Given the description of an element on the screen output the (x, y) to click on. 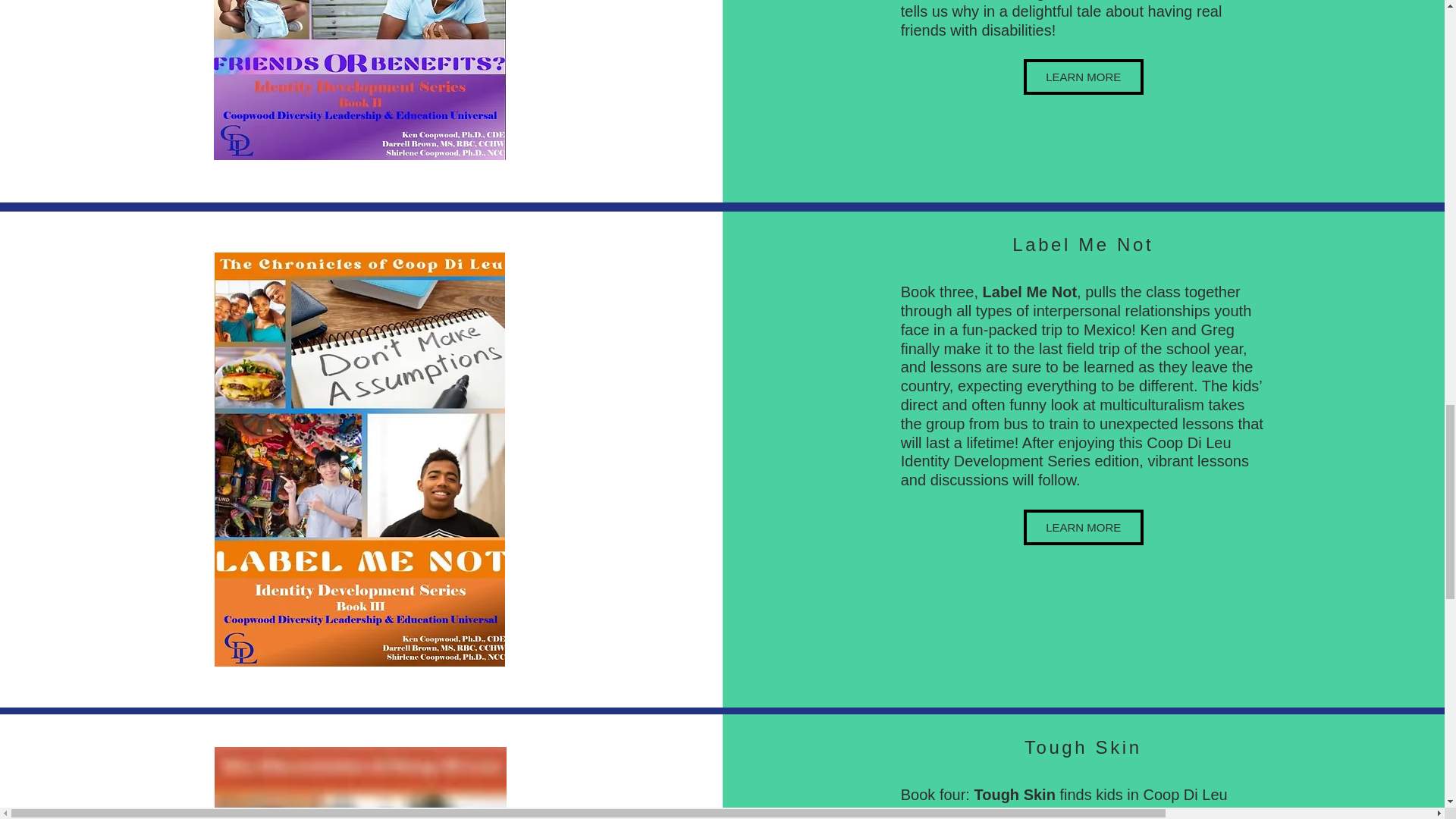
I am who I am .jpg (360, 782)
LEARN MORE (1082, 76)
I am who I am .jpg (359, 79)
LEARN MORE (1082, 527)
